Given the description of an element on the screen output the (x, y) to click on. 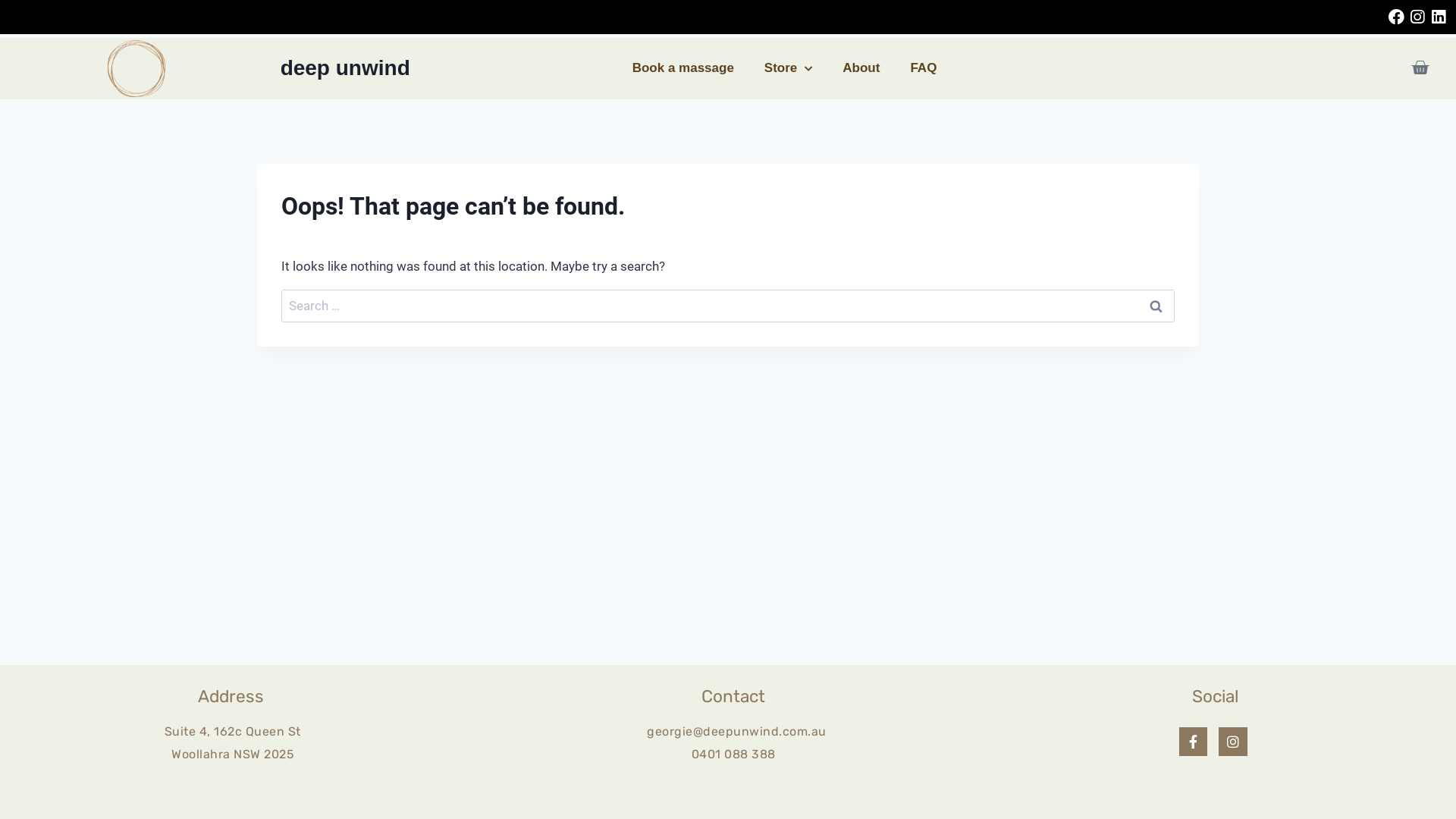
FAQ Element type: text (922, 67)
About Element type: text (860, 67)
Book a massage Element type: text (683, 67)
Store Element type: text (788, 67)
Search Element type: text (1155, 305)
deep unwind Element type: text (345, 67)
0401 088 388 Element type: text (733, 753)
